Given the description of an element on the screen output the (x, y) to click on. 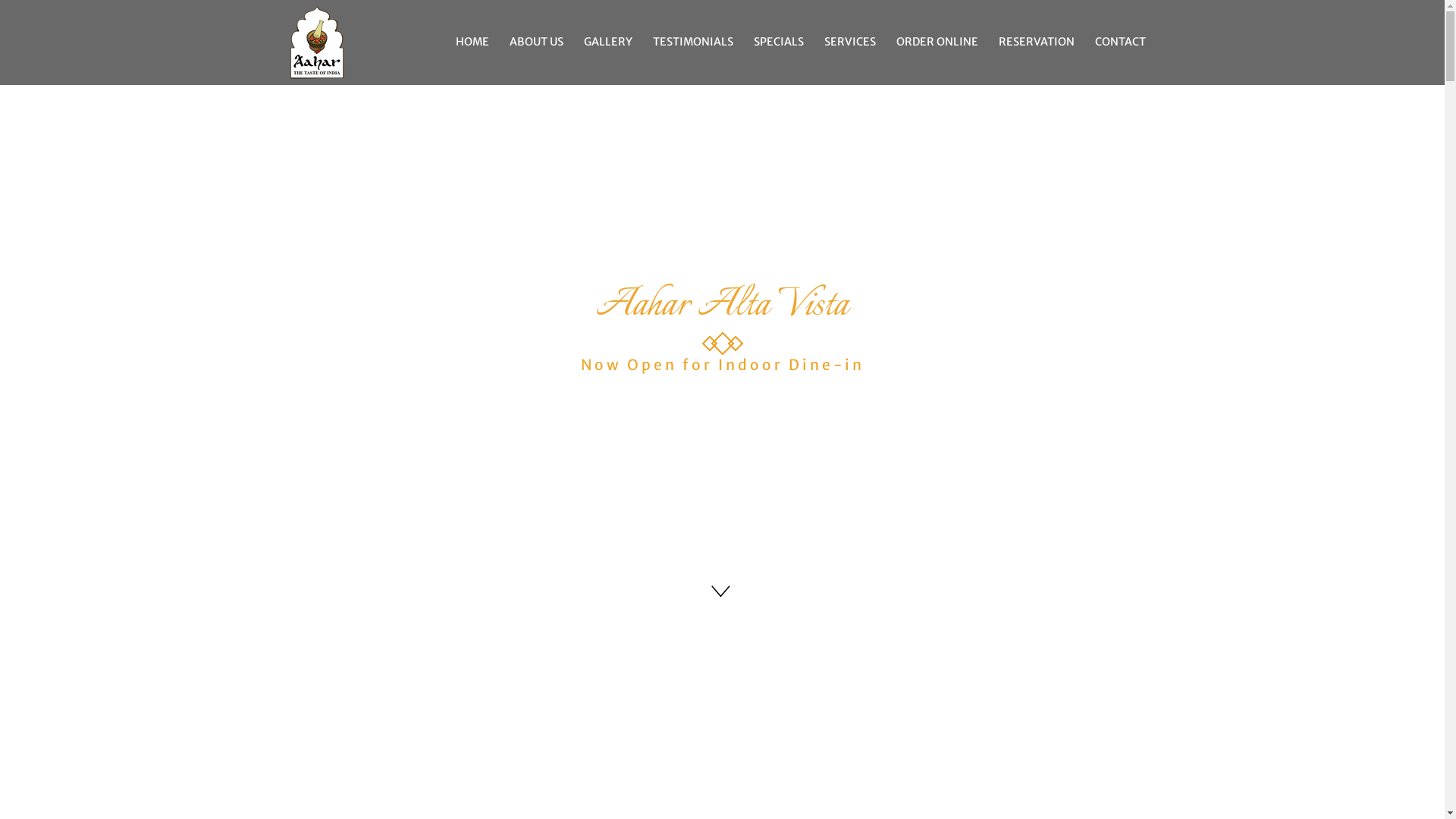
TESTIMONIALS Element type: text (692, 42)
ORDER ONLINE Element type: text (937, 42)
SERVICES Element type: text (849, 42)
GALLERY Element type: text (607, 42)
HOME Element type: text (471, 42)
SPECIALS Element type: text (778, 42)
CONTACT Element type: text (1120, 42)
RESERVATION Element type: text (1035, 42)
ABOUT US Element type: text (536, 42)
